Given the description of an element on the screen output the (x, y) to click on. 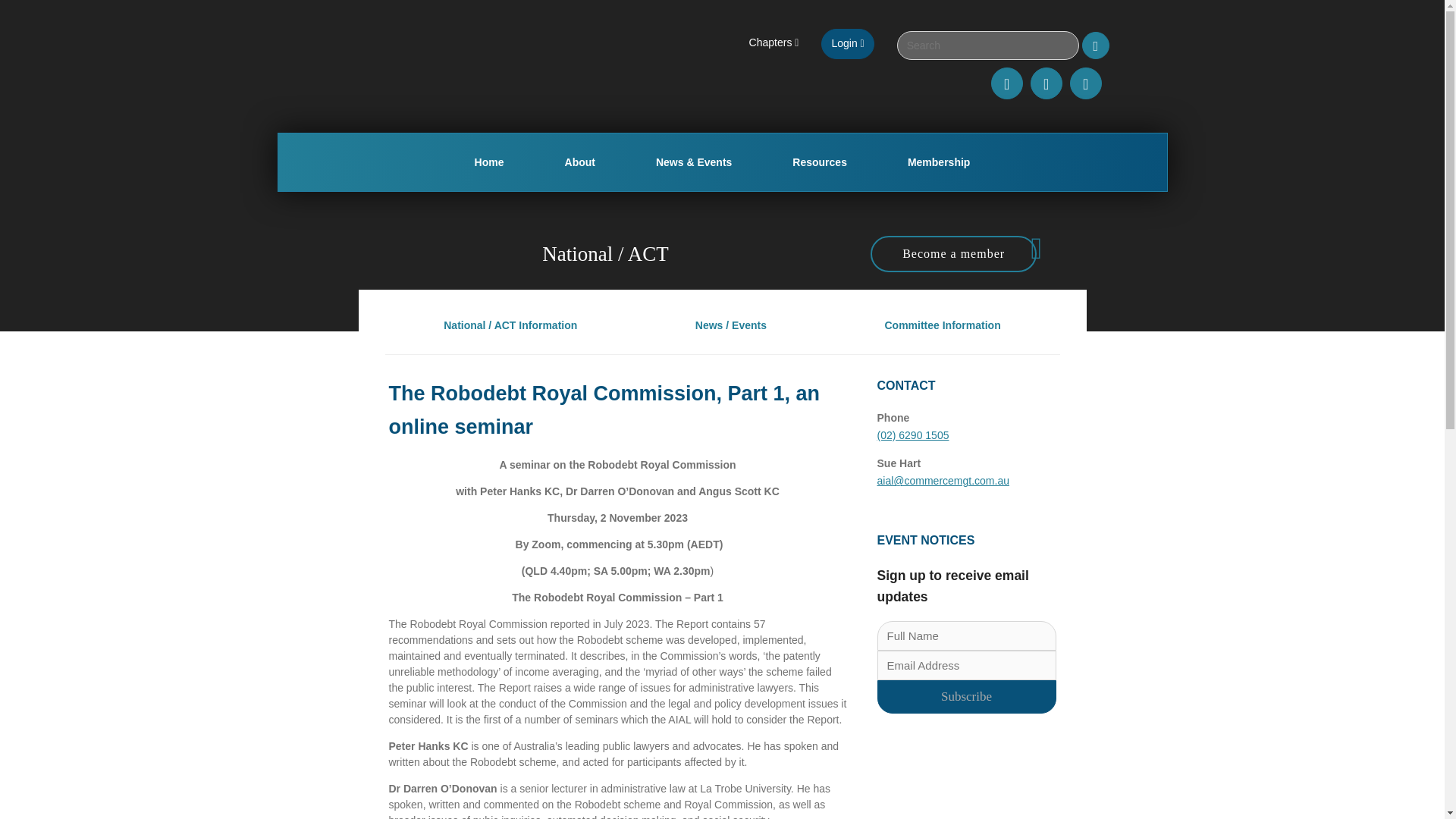
Home (489, 161)
Login (847, 43)
Membership (938, 161)
Resources (819, 161)
About (580, 161)
Subscribe (965, 696)
